Given the description of an element on the screen output the (x, y) to click on. 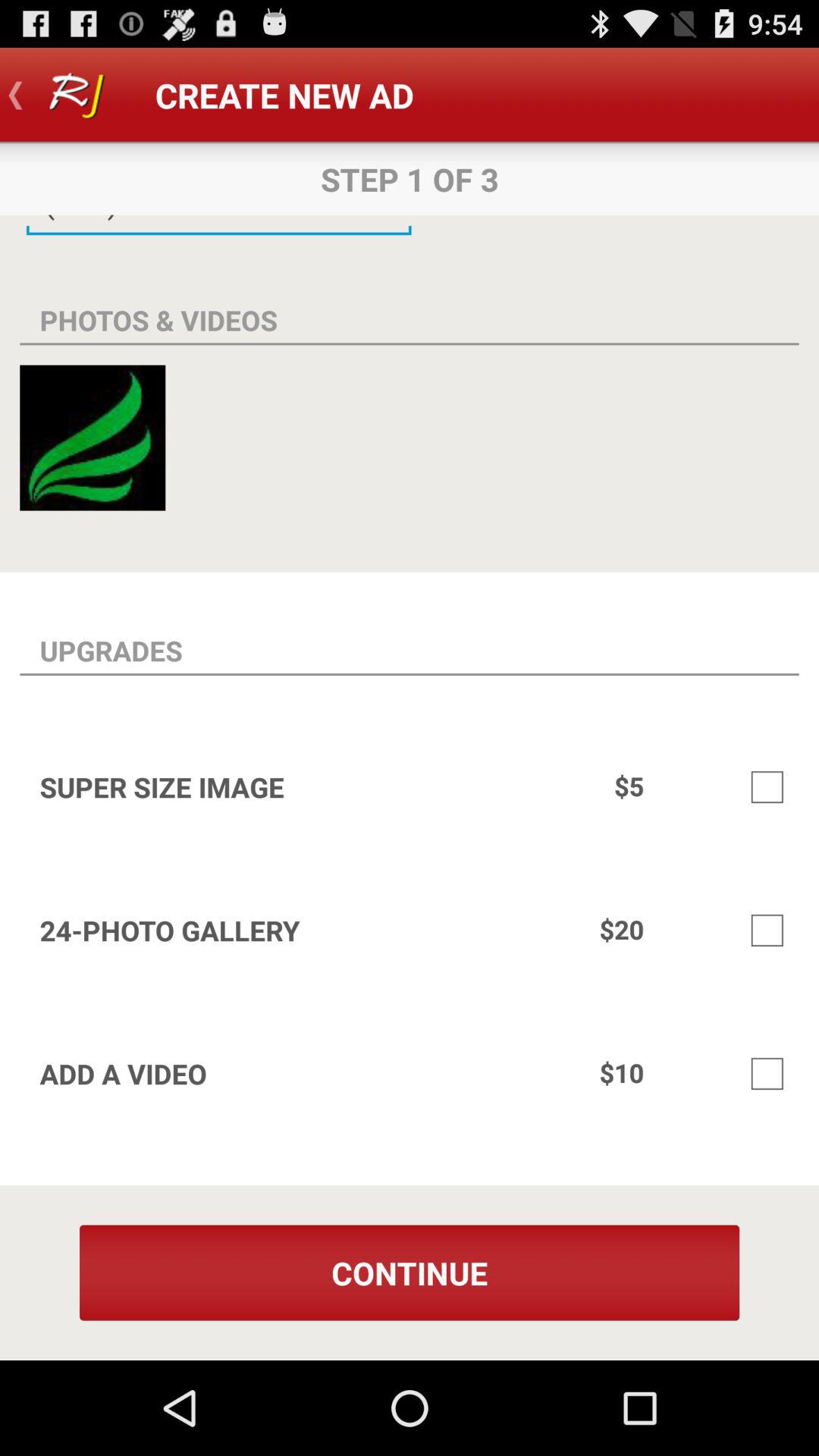
selectable button (767, 1073)
